Given the description of an element on the screen output the (x, y) to click on. 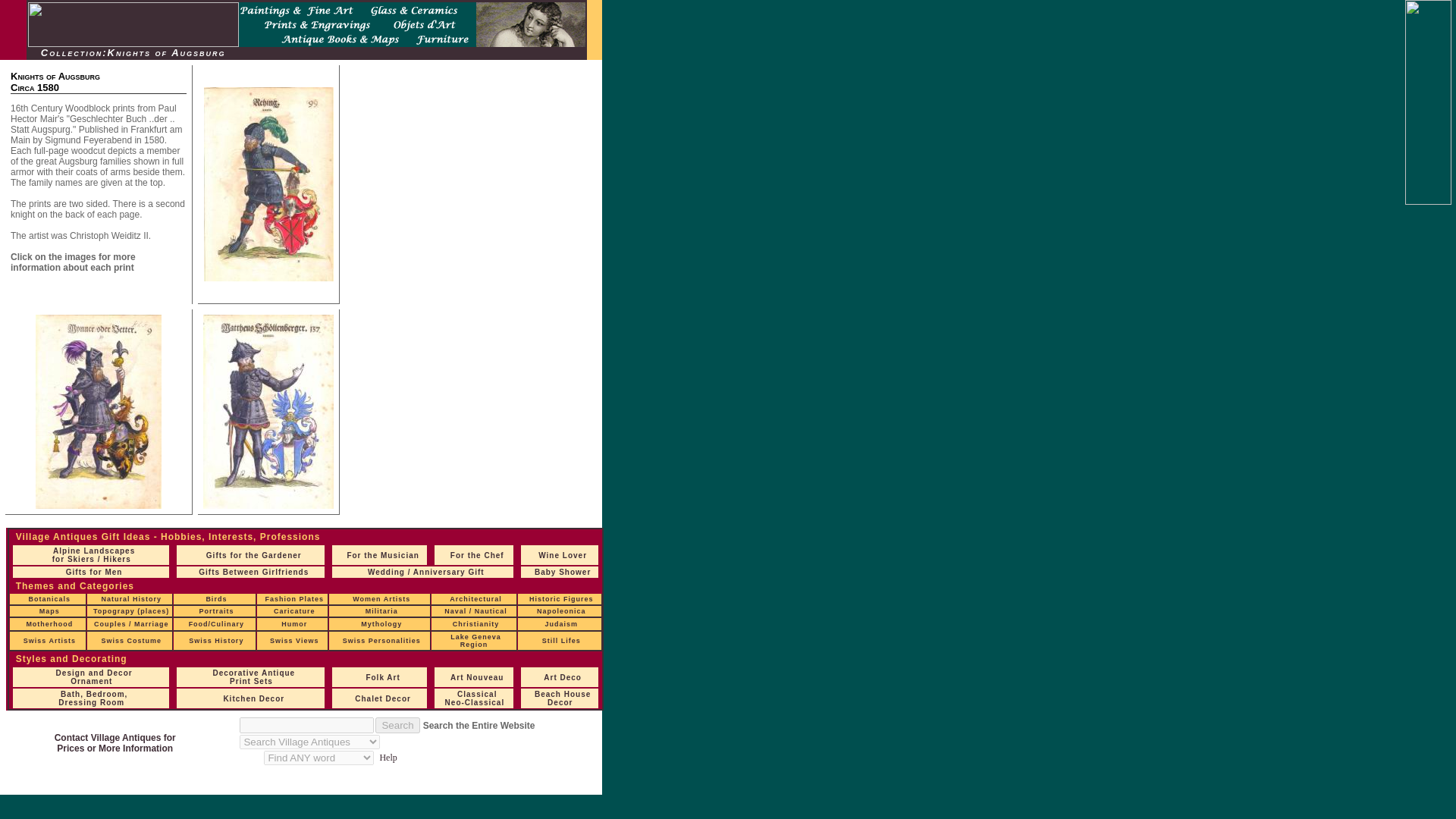
Caricature (294, 611)
Birds (216, 598)
Architectural (475, 598)
Search (397, 725)
Militaria (381, 611)
Mythology (381, 623)
Napoleonica (561, 611)
Natural History (130, 598)
Baby Shower (562, 572)
Maps (49, 611)
